Given the description of an element on the screen output the (x, y) to click on. 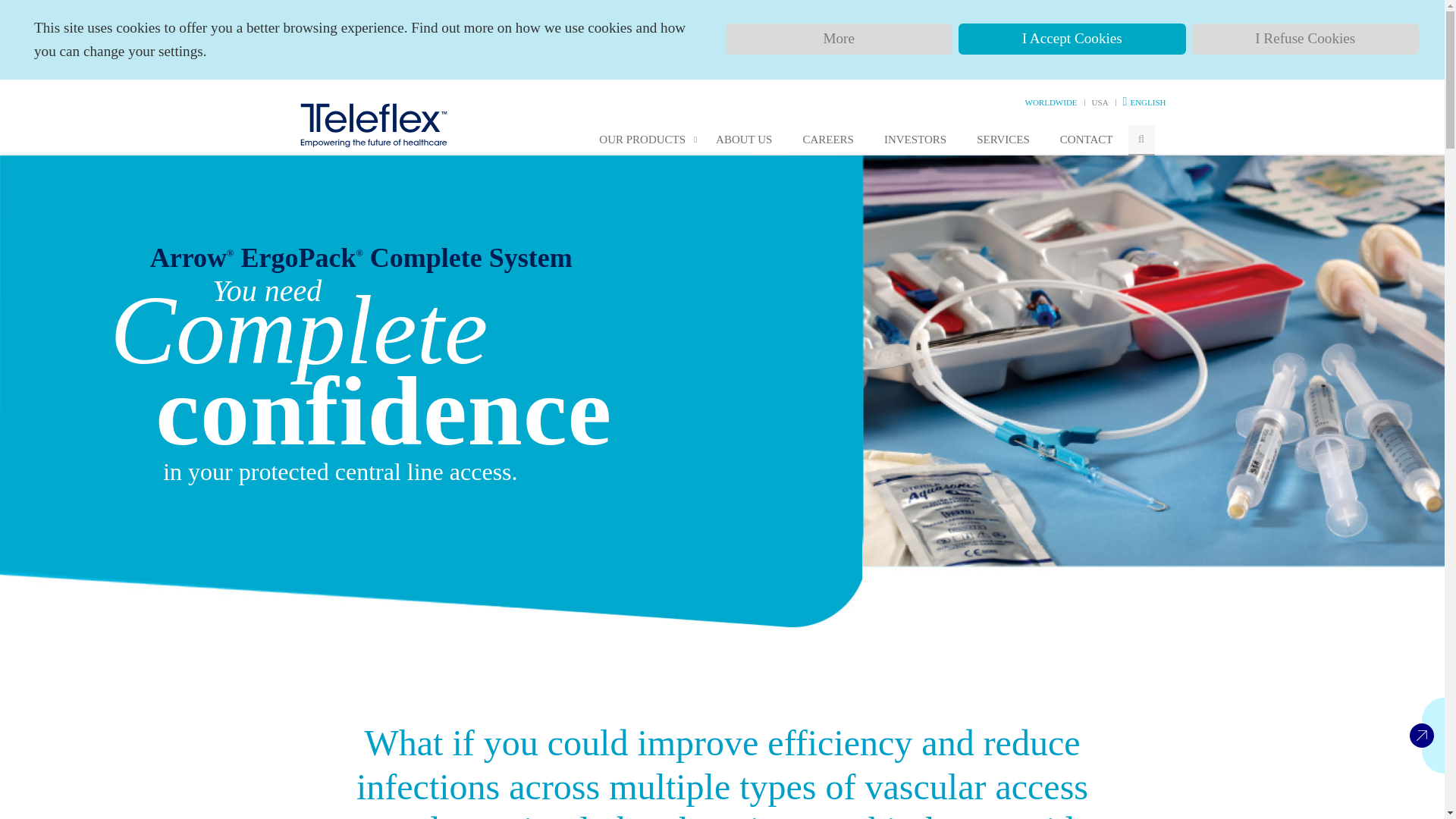
INVESTORS (914, 140)
I Accept Cookies (1072, 38)
OUR PRODUCTS (641, 140)
I Refuse Cookies (1305, 38)
SERVICES (1002, 140)
More (838, 38)
ABOUT US (743, 140)
CONTACT (1086, 140)
ENGLISH (1147, 102)
WORLDWIDE (1051, 102)
CAREERS (828, 140)
